Given the description of an element on the screen output the (x, y) to click on. 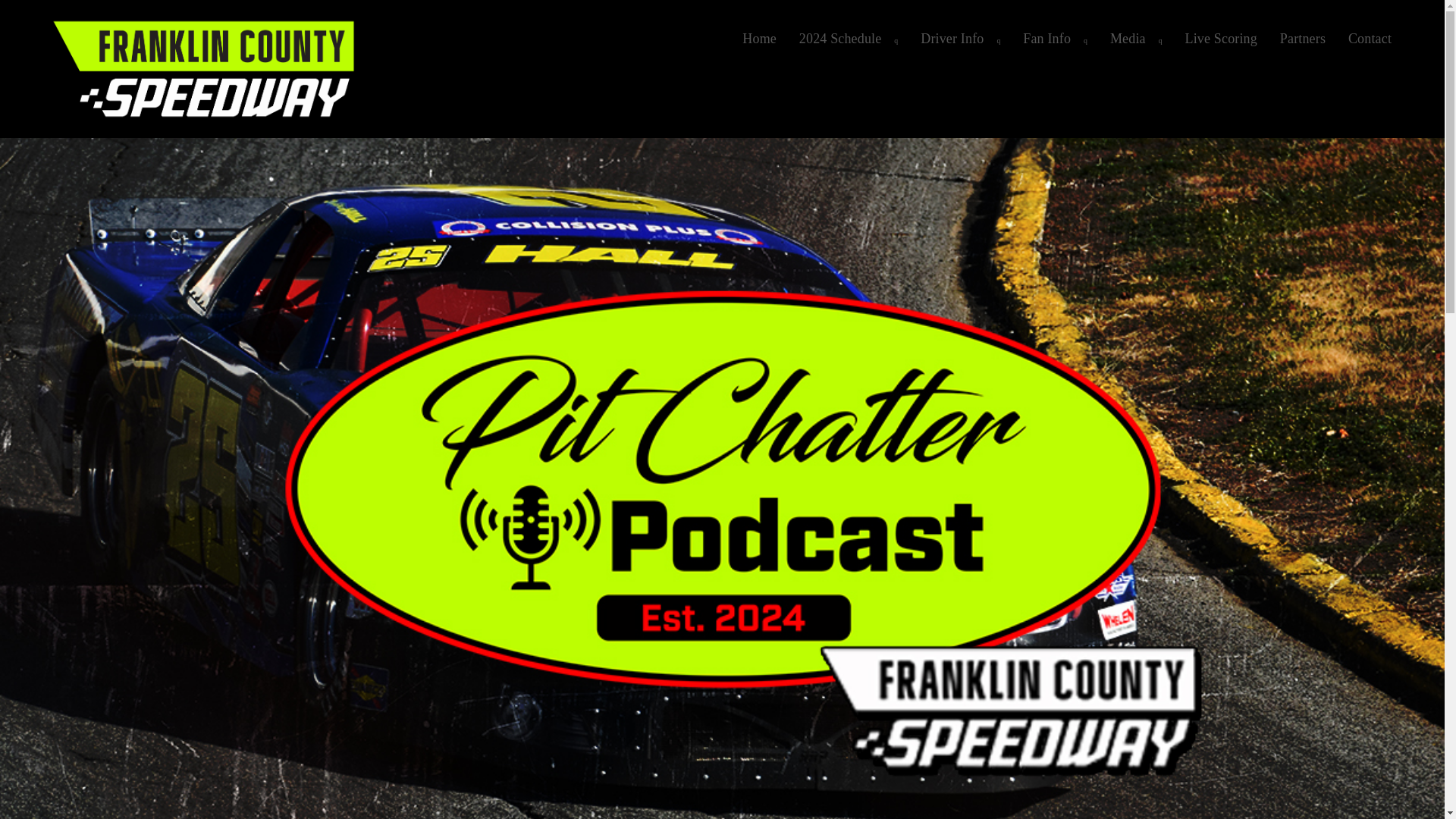
Media (1136, 38)
2024 Schedule (847, 38)
Driver Info (959, 38)
Fan Info (1055, 38)
Contact (1369, 38)
Live Scoring (1220, 38)
Partners (1302, 38)
Home (758, 38)
